Given the description of an element on the screen output the (x, y) to click on. 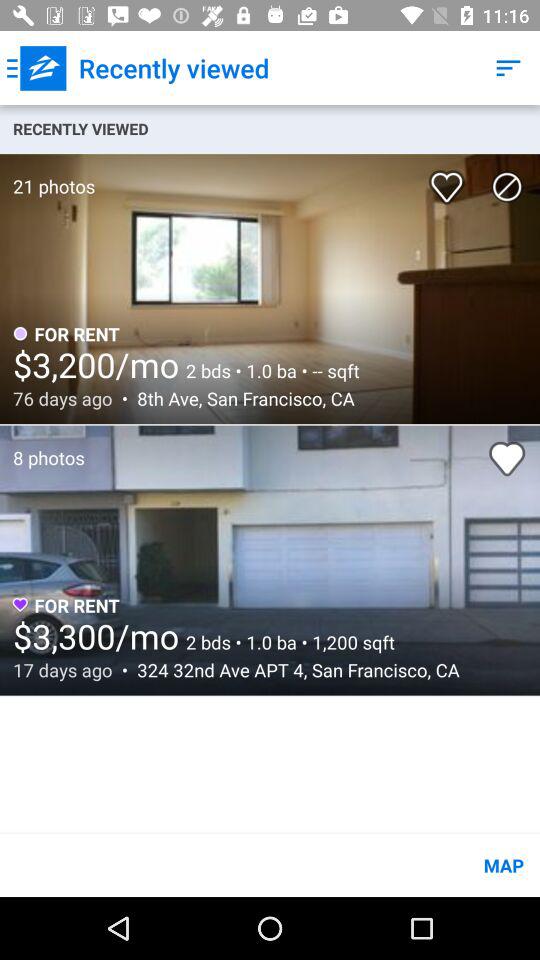
turn off icon below $3,300/mo item (292, 669)
